Given the description of an element on the screen output the (x, y) to click on. 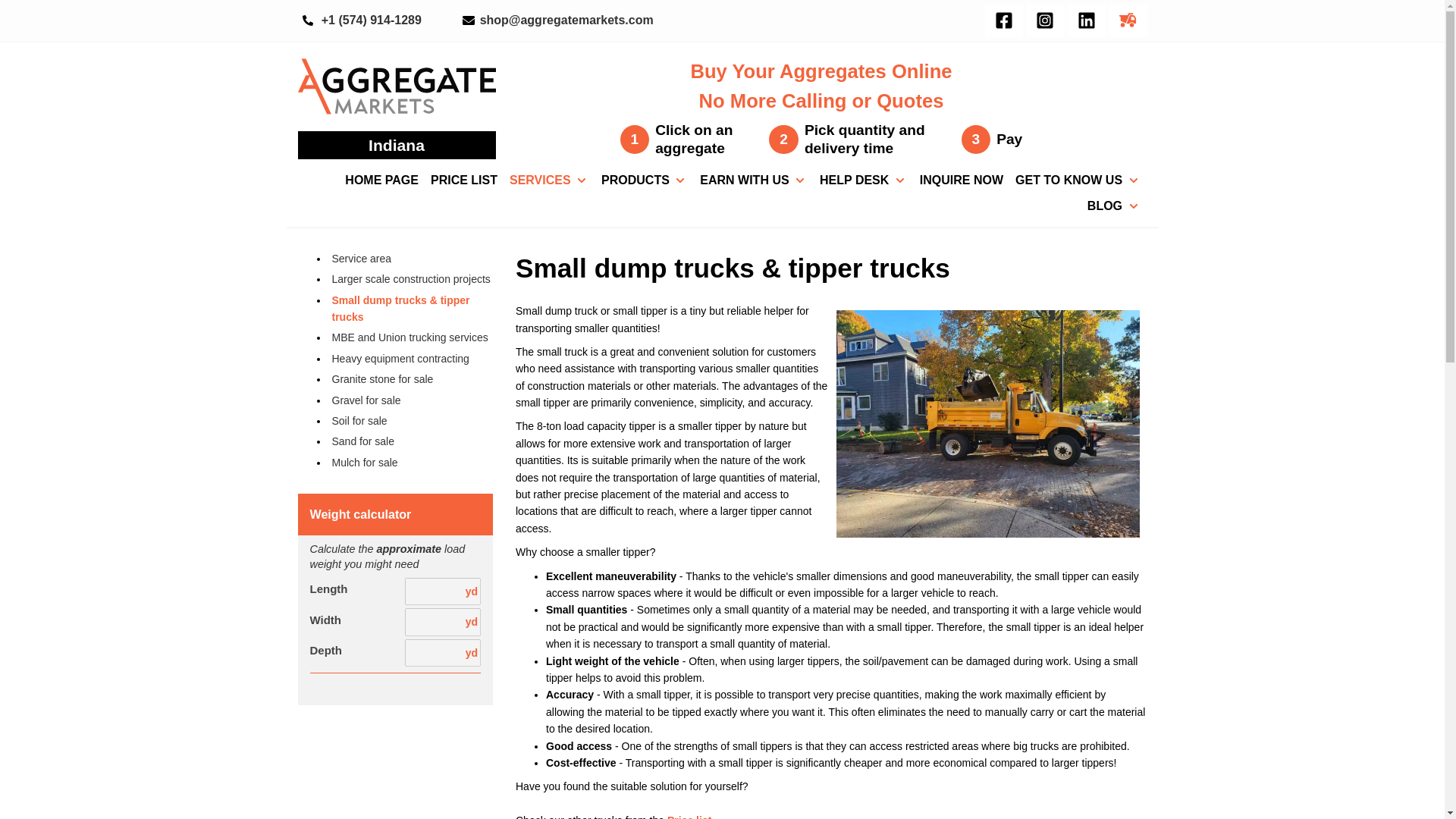
Aggregate Markets Instagram (1045, 20)
Aggregate Markets LinkedIn (1086, 20)
Aggregate Markets Facebook (1003, 20)
PRICE LIST (464, 180)
HOME PAGE (382, 180)
